Given the description of an element on the screen output the (x, y) to click on. 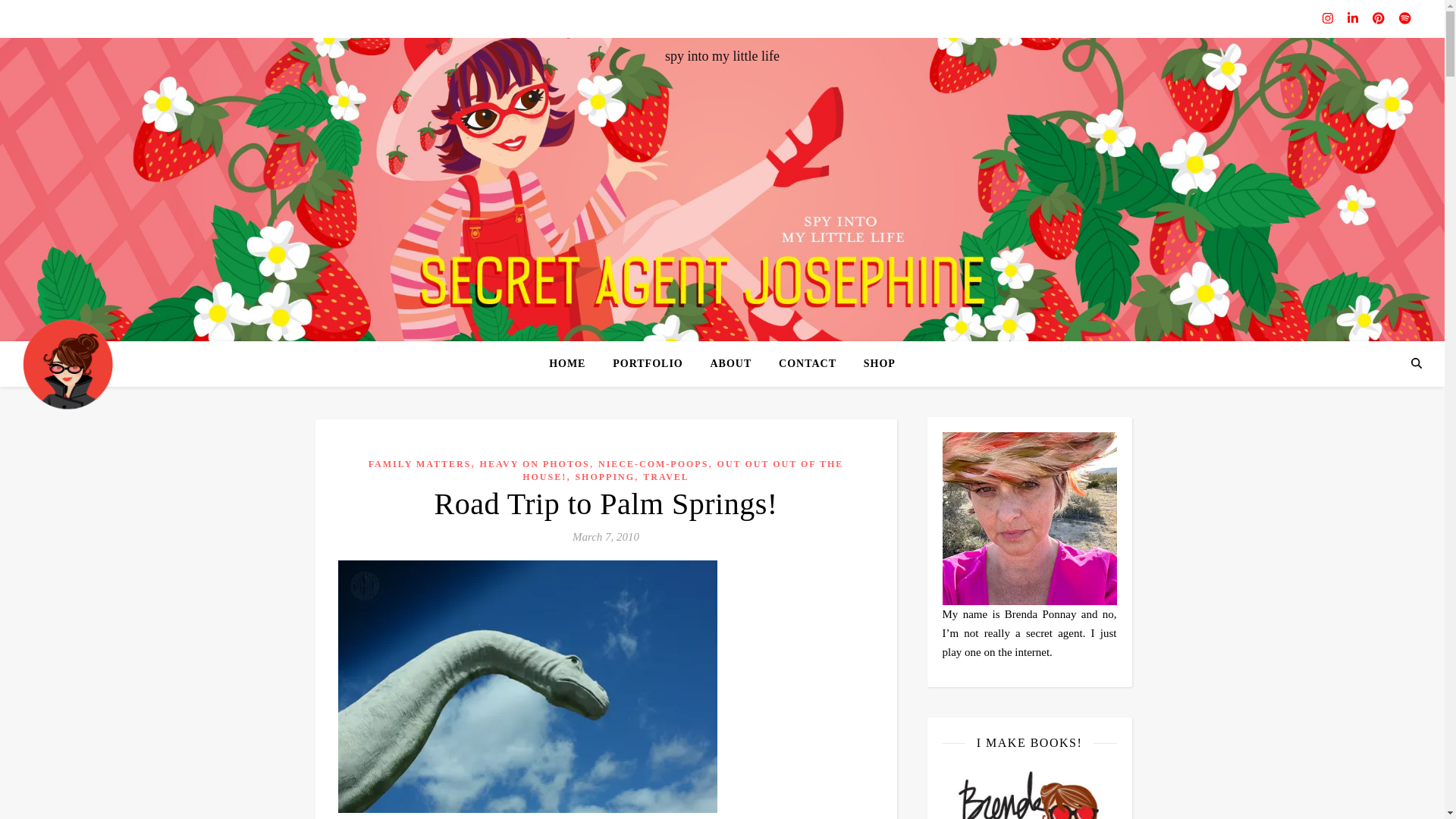
OUT OUT OUT OF THE HOUSE! (682, 470)
HOME (572, 363)
ABOUT (729, 363)
FAMILY MATTERS (419, 463)
TRAVEL (665, 476)
SHOPPING (604, 476)
SHOP (873, 363)
NIECE-COM-POOPS (652, 463)
HEAVY ON PHOTOS (534, 463)
CONTACT (807, 363)
PORTFOLIO (647, 363)
Secret Agent Josephine (68, 363)
